Given the description of an element on the screen output the (x, y) to click on. 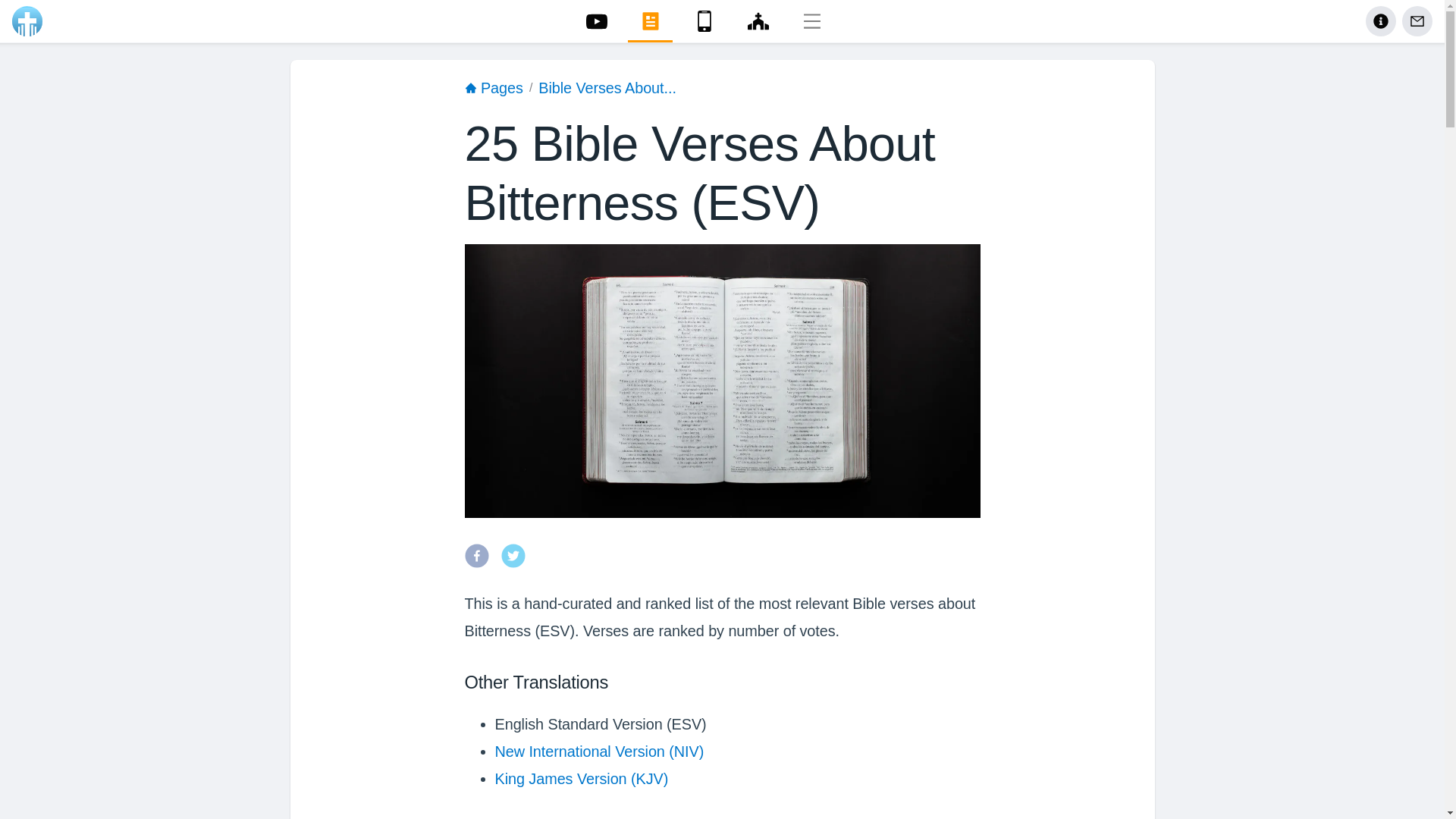
Pages (493, 88)
Bible Verses About... (607, 88)
